Given the description of an element on the screen output the (x, y) to click on. 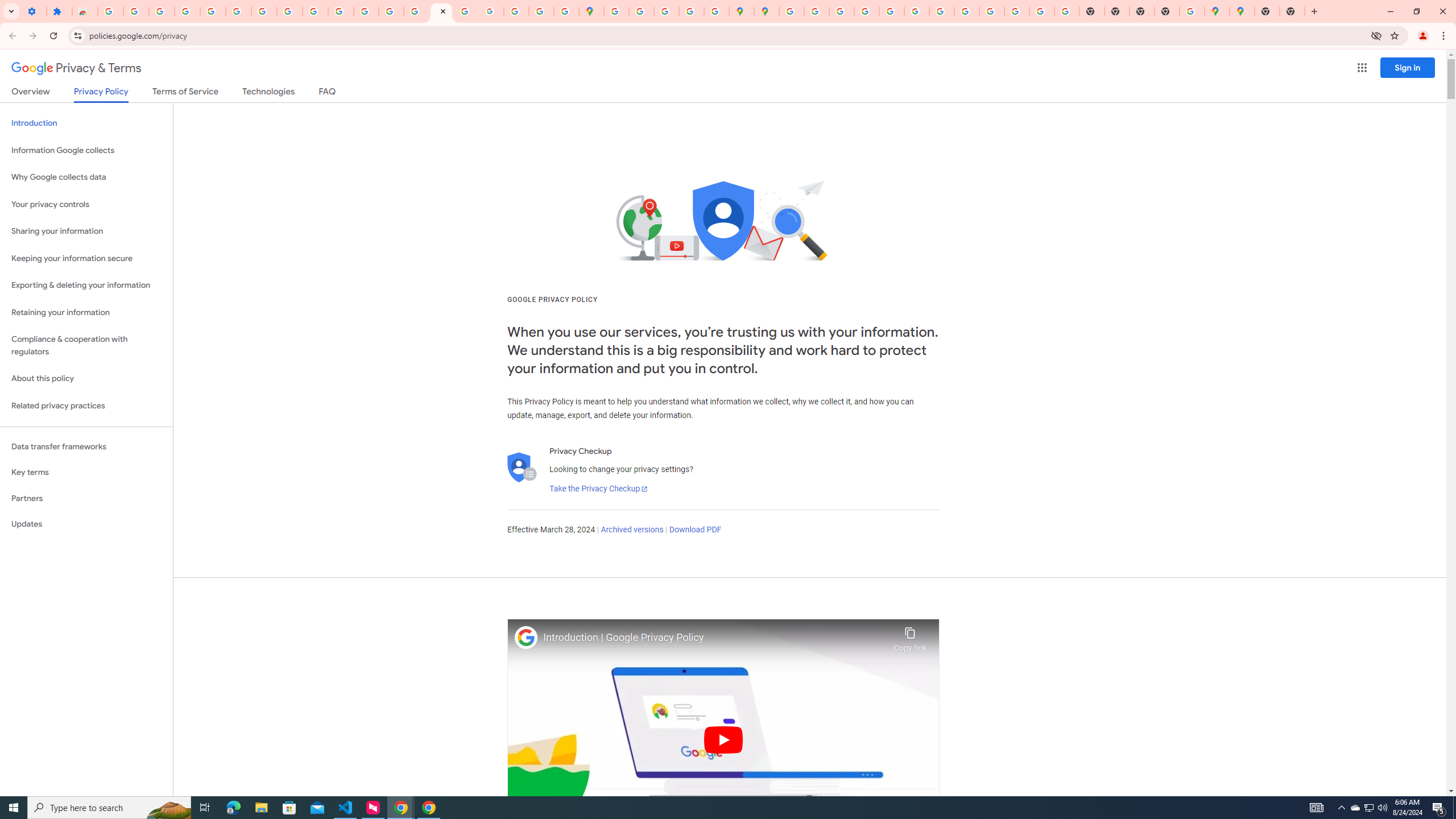
Copy link (909, 636)
Updates (86, 524)
New Tab (1166, 11)
Exporting & deleting your information (86, 284)
Google Maps (590, 11)
Introduction (86, 122)
